Given the description of an element on the screen output the (x, y) to click on. 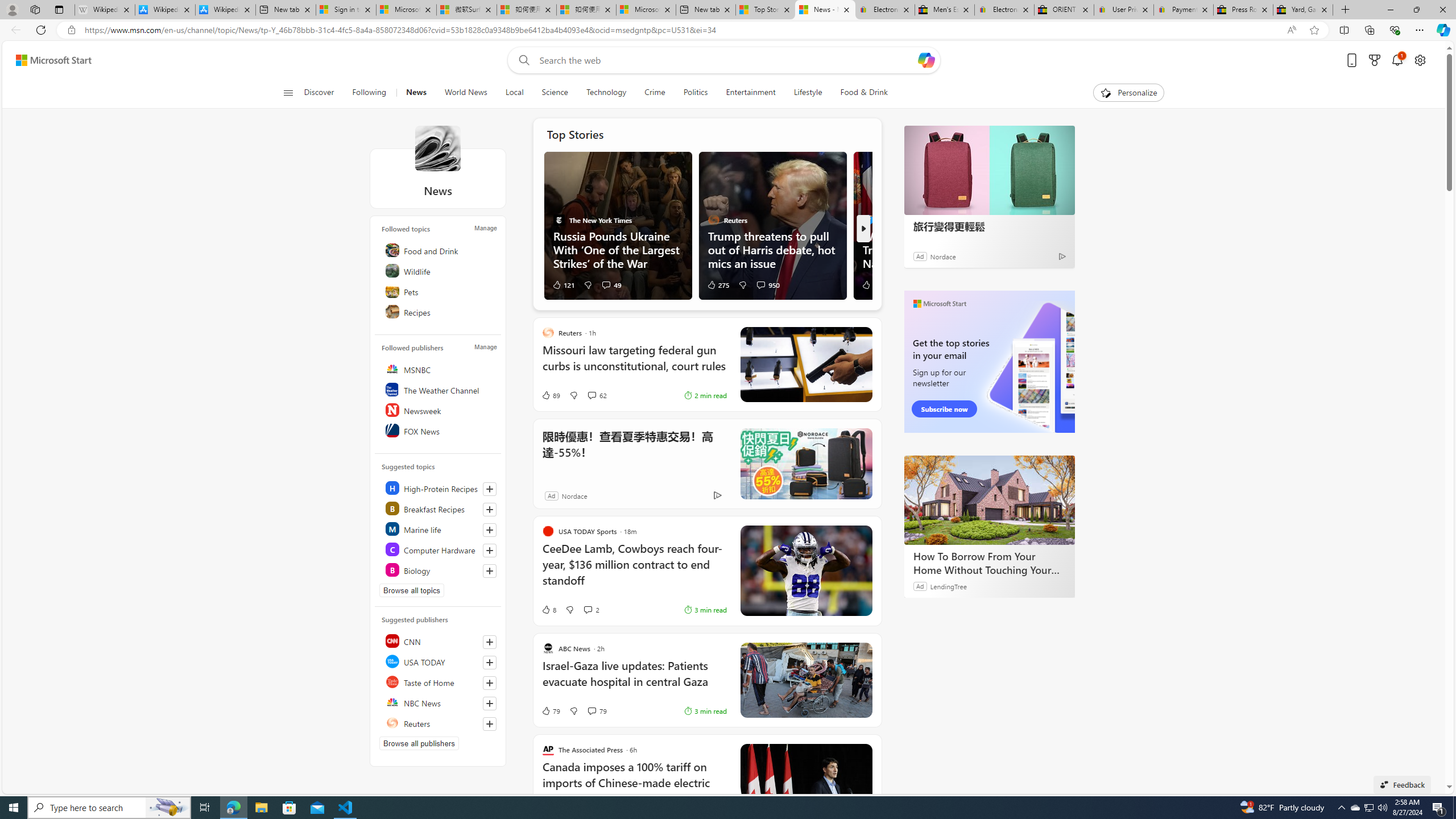
8 Like (547, 609)
Open navigation menu (287, 92)
Browse all publishers (419, 743)
View comments 950 Comment (767, 284)
To get missing image descriptions, open the context menu. (1105, 92)
FOX News (439, 430)
Sign in to your Microsoft account (346, 9)
New tab (706, 9)
Electronics, Cars, Fashion, Collectibles & More | eBay (1004, 9)
Notifications (1397, 60)
Newsweek (439, 410)
View comments 2 Comment (587, 609)
